Given the description of an element on the screen output the (x, y) to click on. 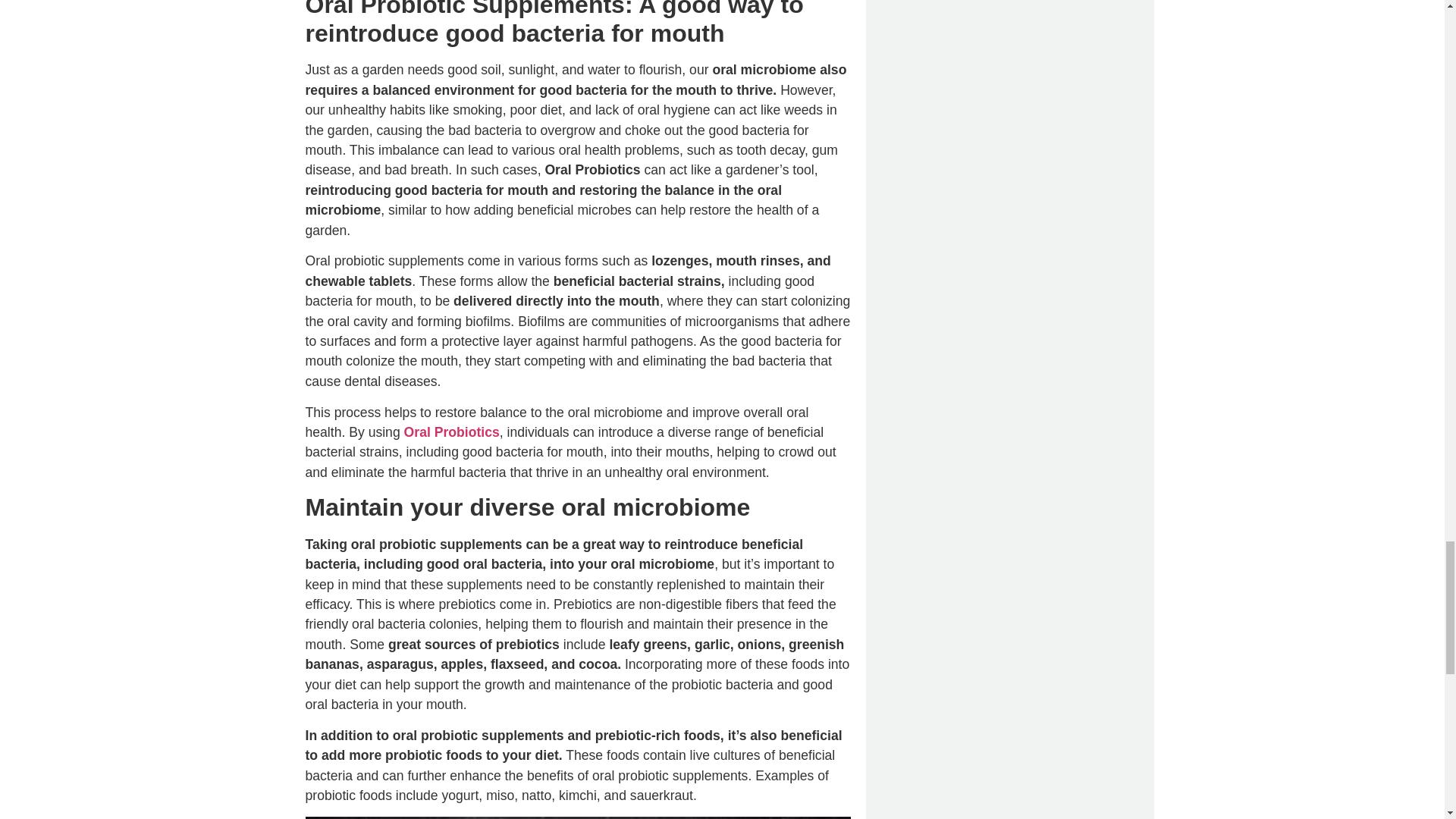
Oral Probiotics (451, 432)
